Given the description of an element on the screen output the (x, y) to click on. 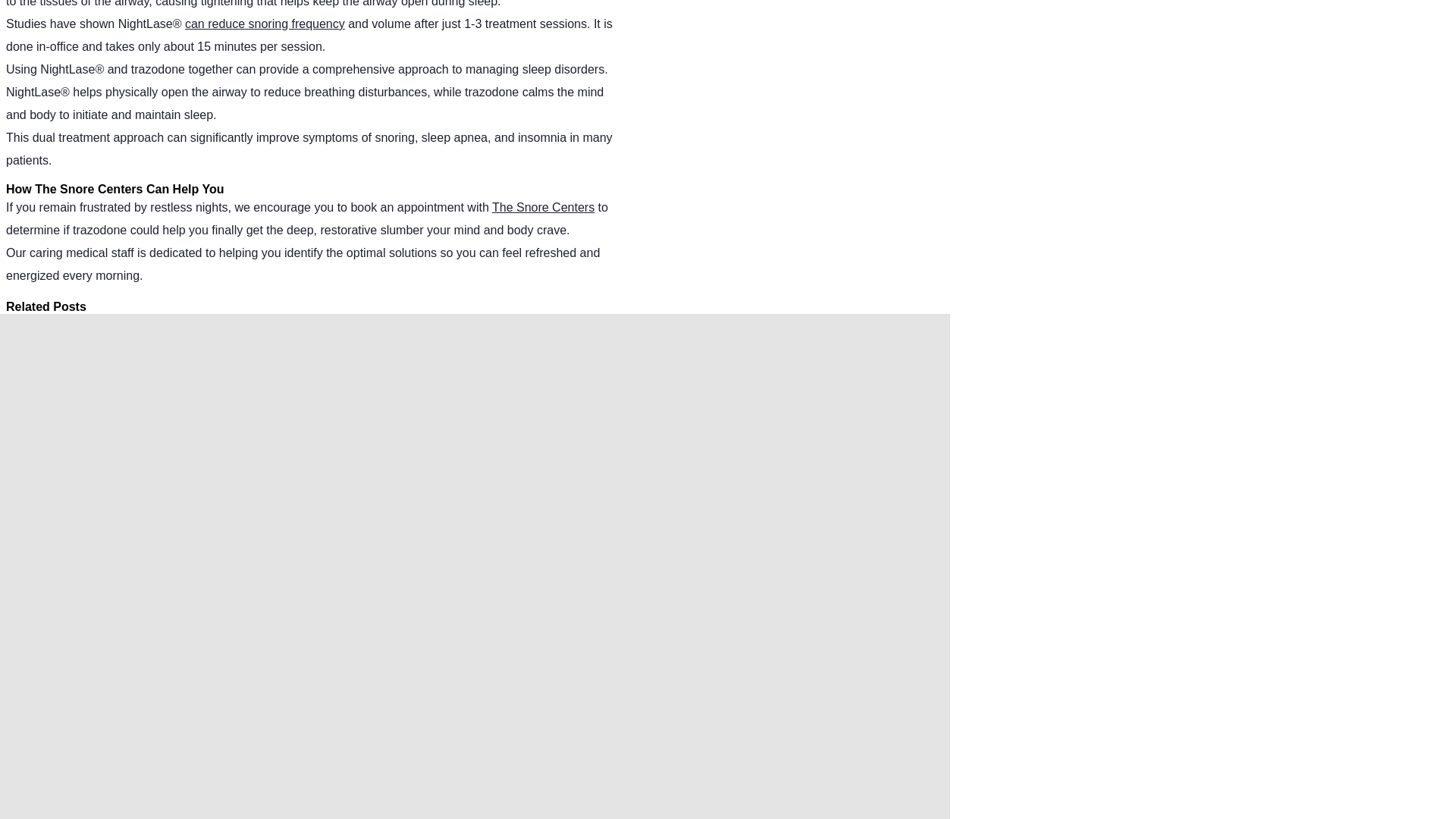
can reduce snoring frequency (264, 23)
The Snore Centers (543, 206)
